Given the description of an element on the screen output the (x, y) to click on. 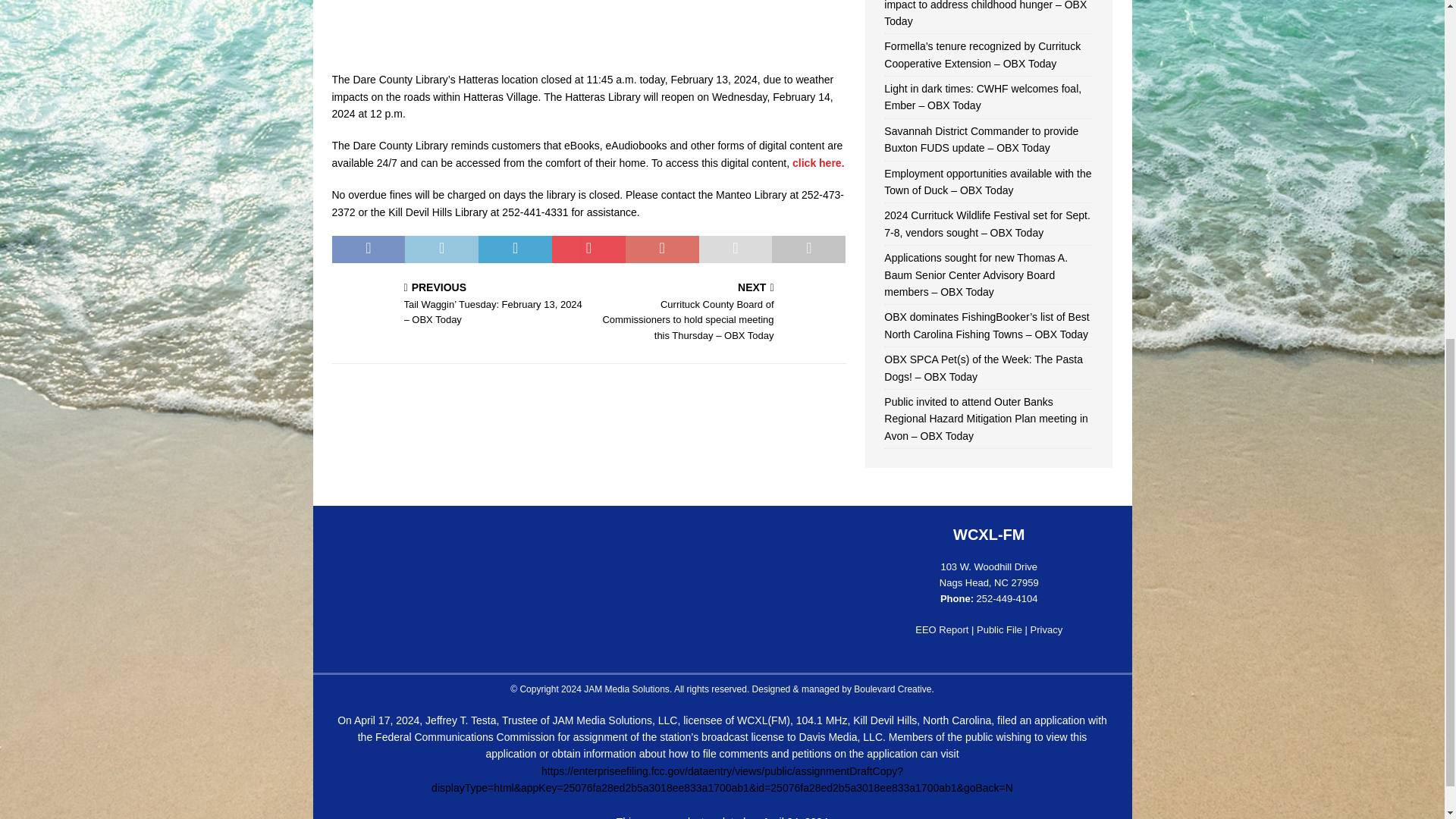
image (588, 47)
click here. (818, 162)
